Given the description of an element on the screen output the (x, y) to click on. 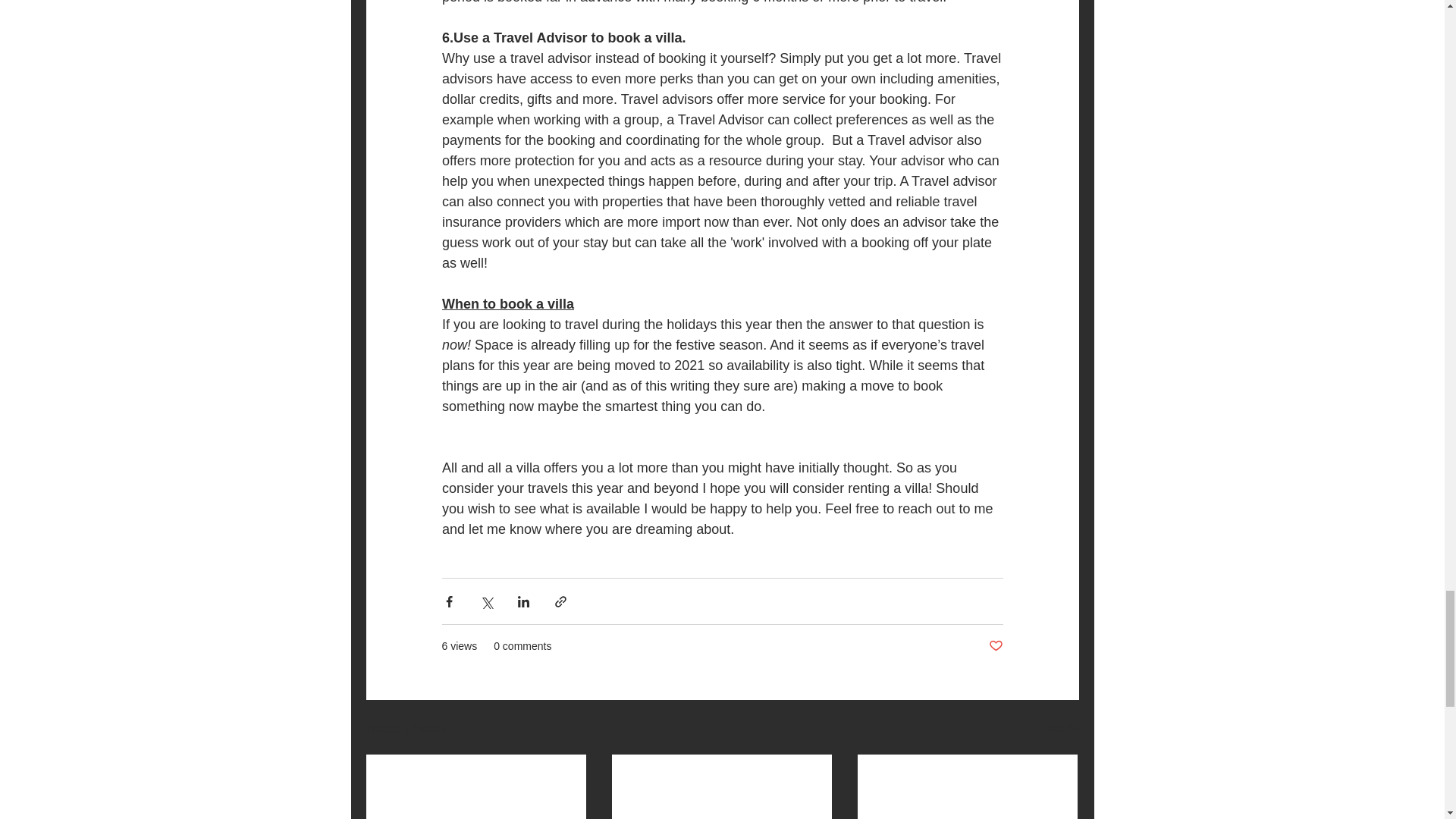
See All (1061, 728)
Post not marked as liked (995, 646)
